Given the description of an element on the screen output the (x, y) to click on. 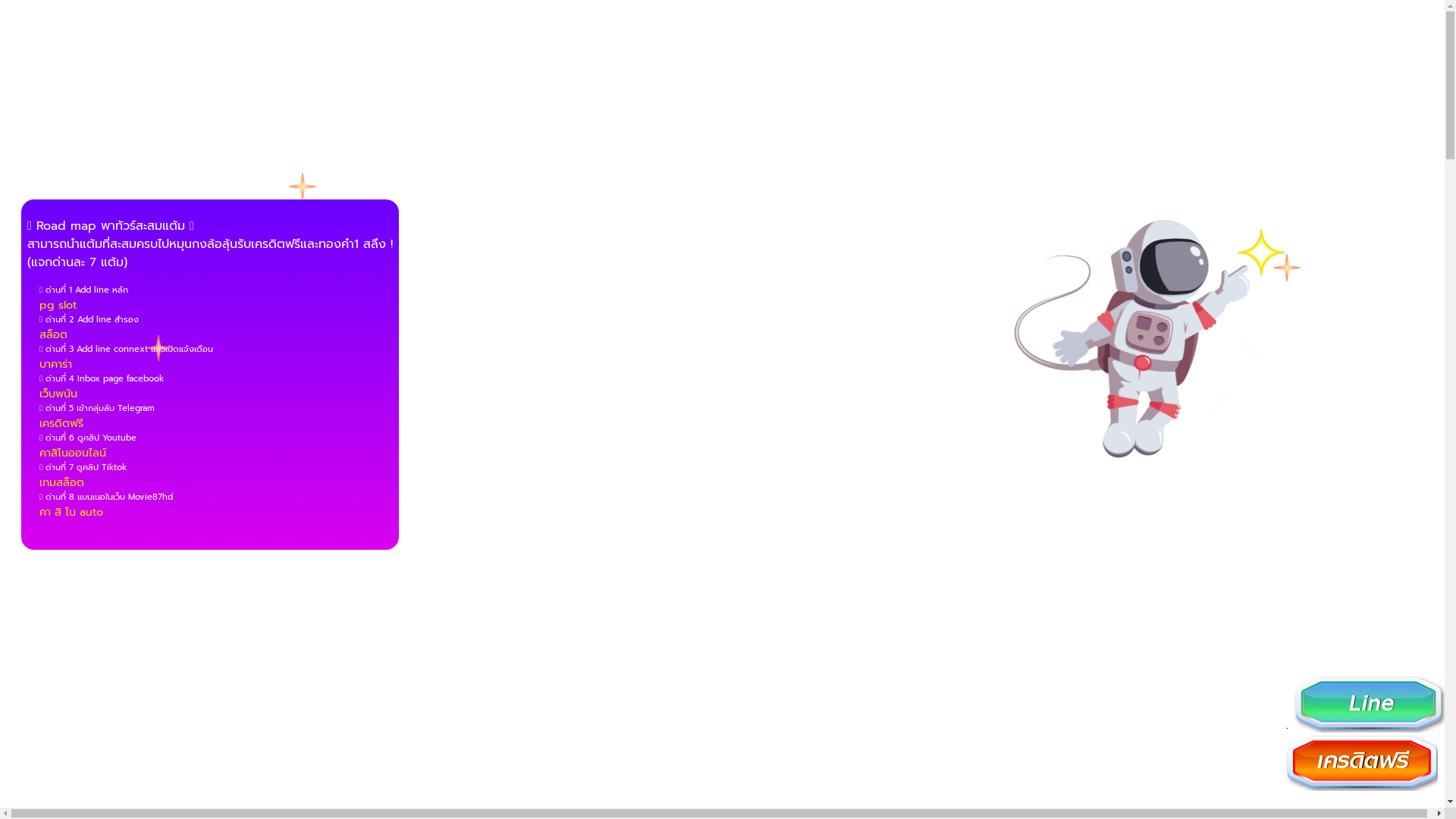
pg slot Element type: text (57, 304)
